Given the description of an element on the screen output the (x, y) to click on. 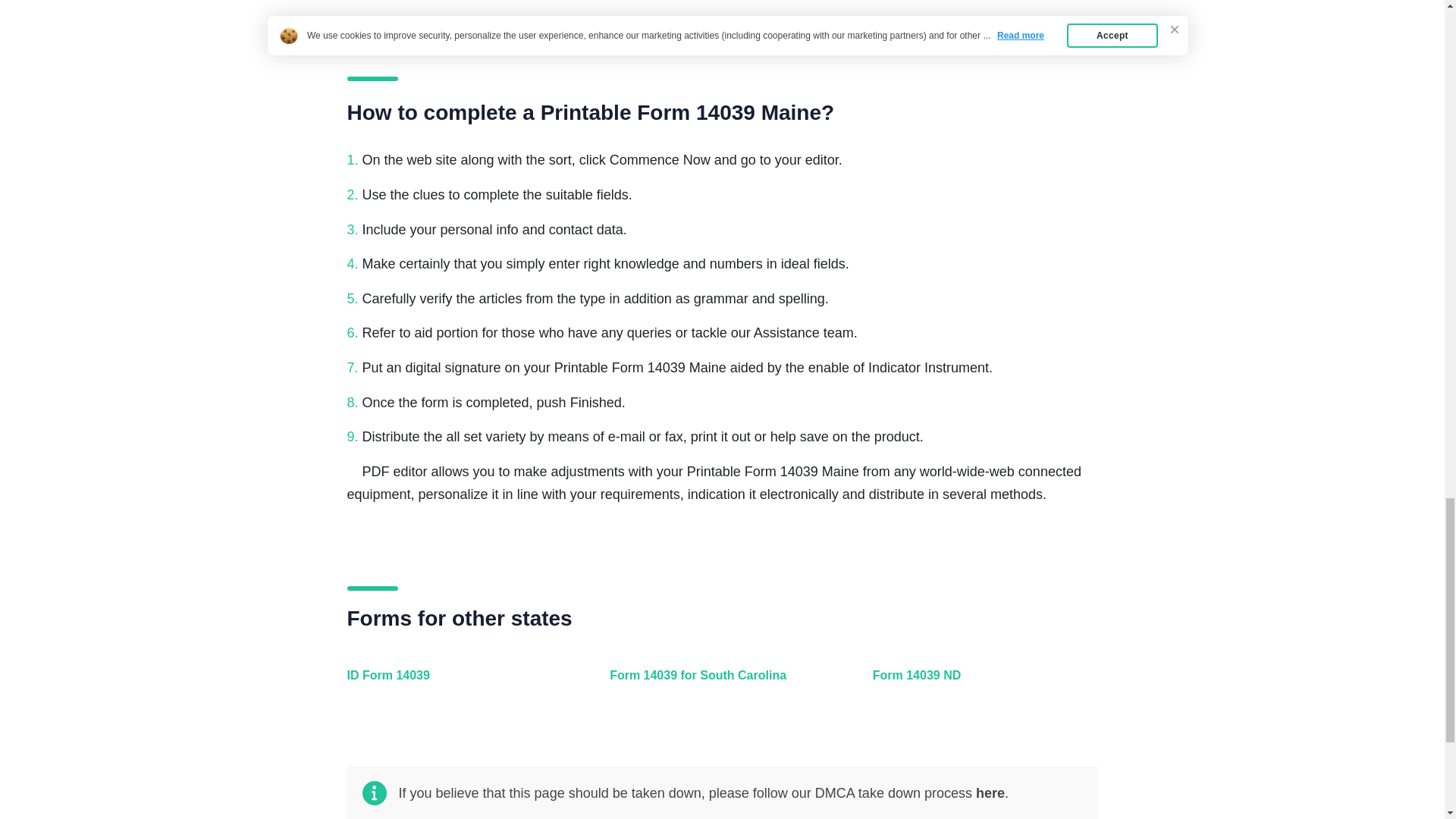
Form 14039 ND (981, 683)
Form 14039 for South Carolina (718, 683)
here (989, 792)
ID Form 14039 (456, 683)
